Given the description of an element on the screen output the (x, y) to click on. 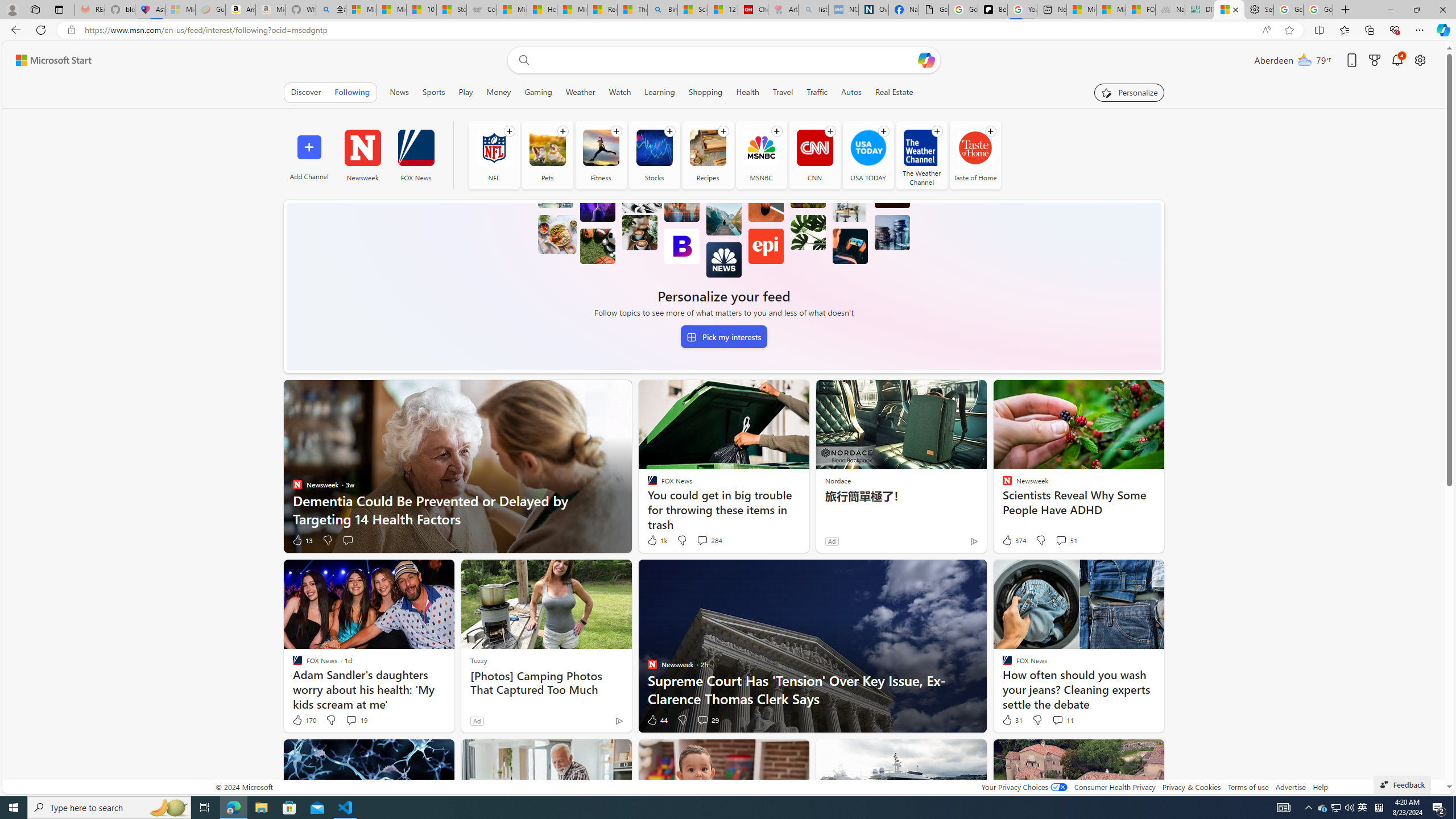
CNN (814, 147)
NFL (494, 147)
Privacy & Cookies (1191, 786)
MSNBC (761, 147)
Fitness (600, 155)
View comments 19 Comment (355, 719)
